Given the description of an element on the screen output the (x, y) to click on. 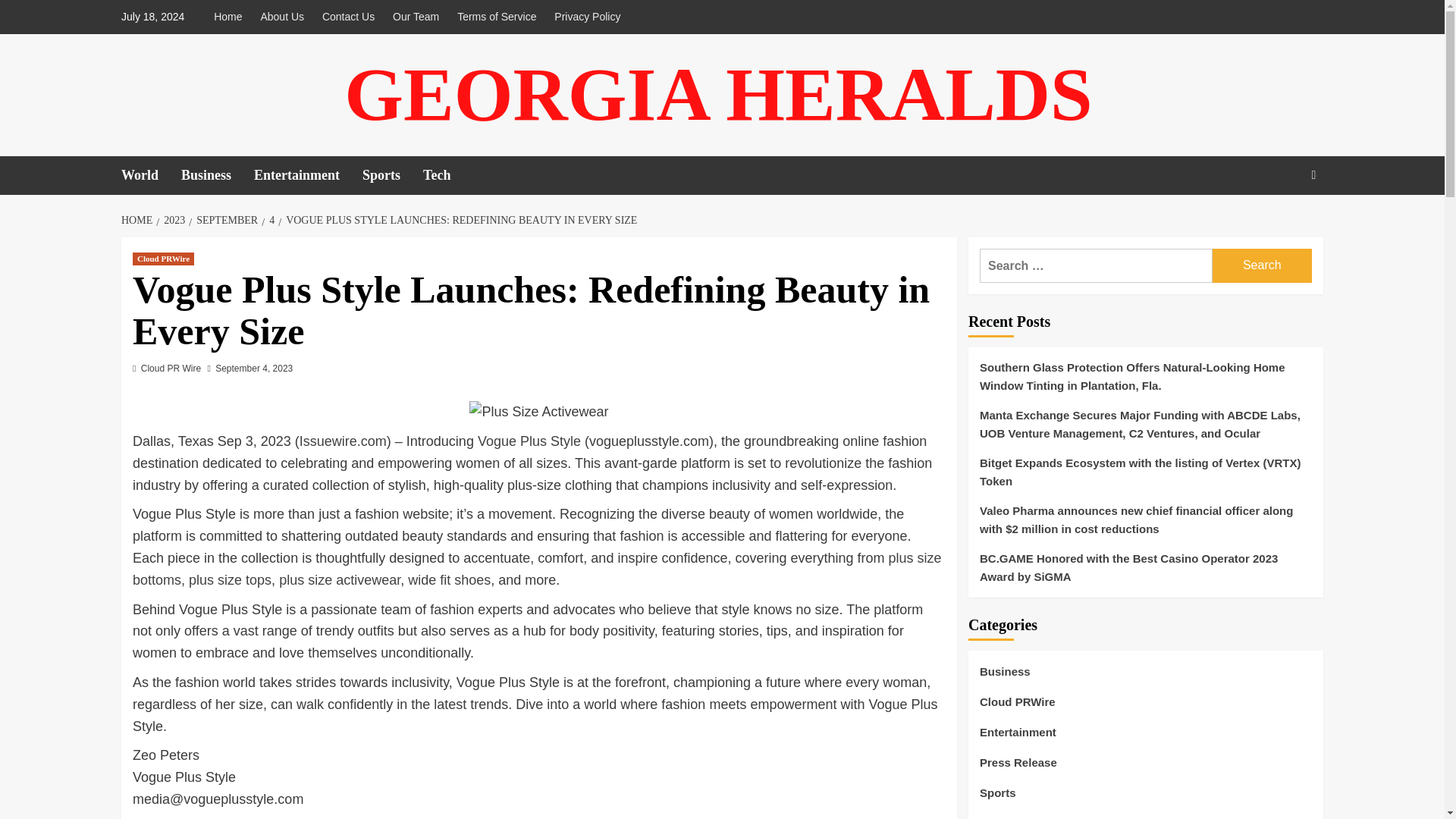
plus size activewear (339, 580)
Tech (448, 175)
Vogue Plus Style (528, 441)
Contact Us (347, 17)
Privacy Policy (587, 17)
Cloud PRWire (162, 258)
Search (1261, 265)
GEORGIA HERALDS (717, 94)
Search (1261, 265)
Sports (392, 175)
September 4, 2023 (253, 368)
4 (270, 220)
HOME (137, 220)
World (150, 175)
Plus Size Activewear (538, 412)
